Given the description of an element on the screen output the (x, y) to click on. 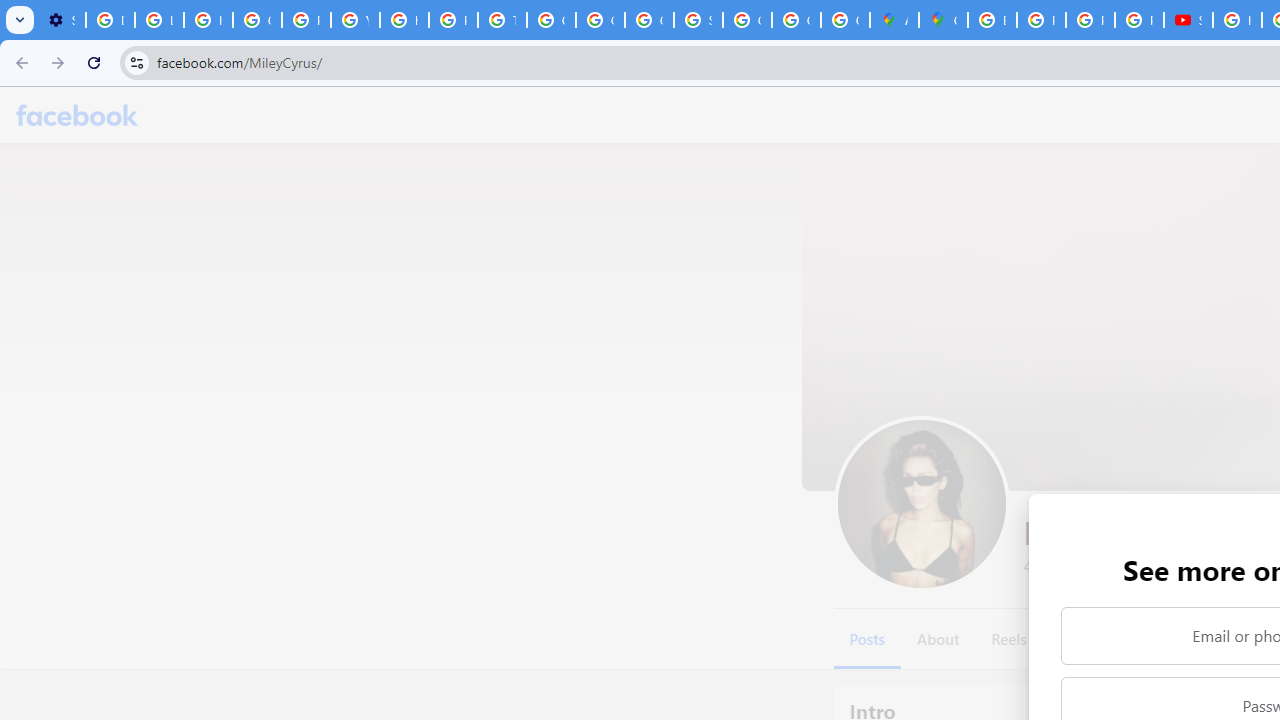
Learn how to find your photos - Google Photos Help (159, 20)
Sign in - Google Accounts (698, 20)
